Given the description of an element on the screen output the (x, y) to click on. 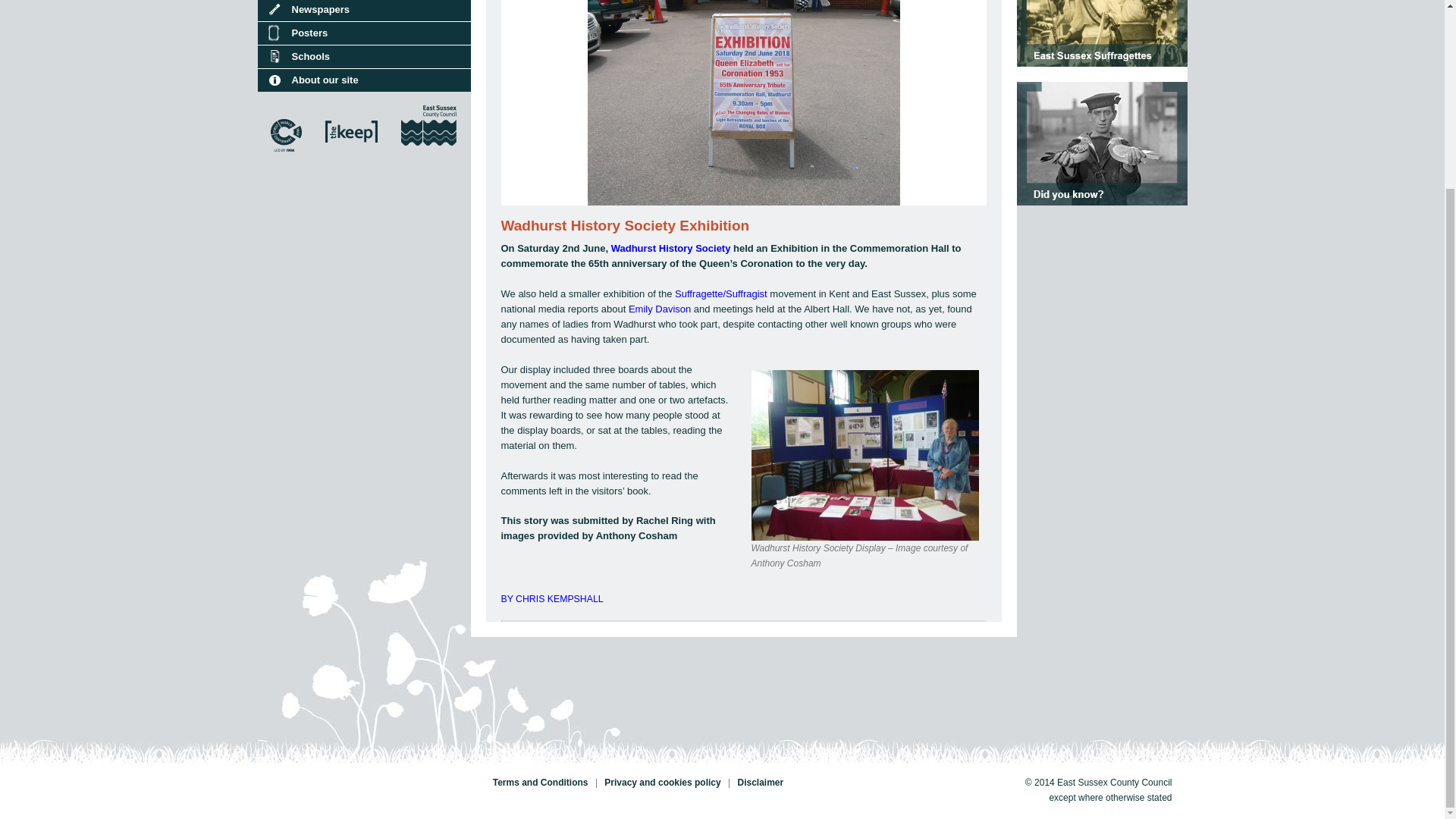
Newspapers (363, 10)
Schools (363, 56)
Emily Davison (659, 308)
Wadhurst History Society (670, 247)
Featured Story (1101, 4)
BY CHRIS KEMPSHALL (742, 599)
The Keep (352, 157)
Wadhurst-Featured (742, 102)
Terms and Conditions (539, 782)
Posters (363, 33)
